Given the description of an element on the screen output the (x, y) to click on. 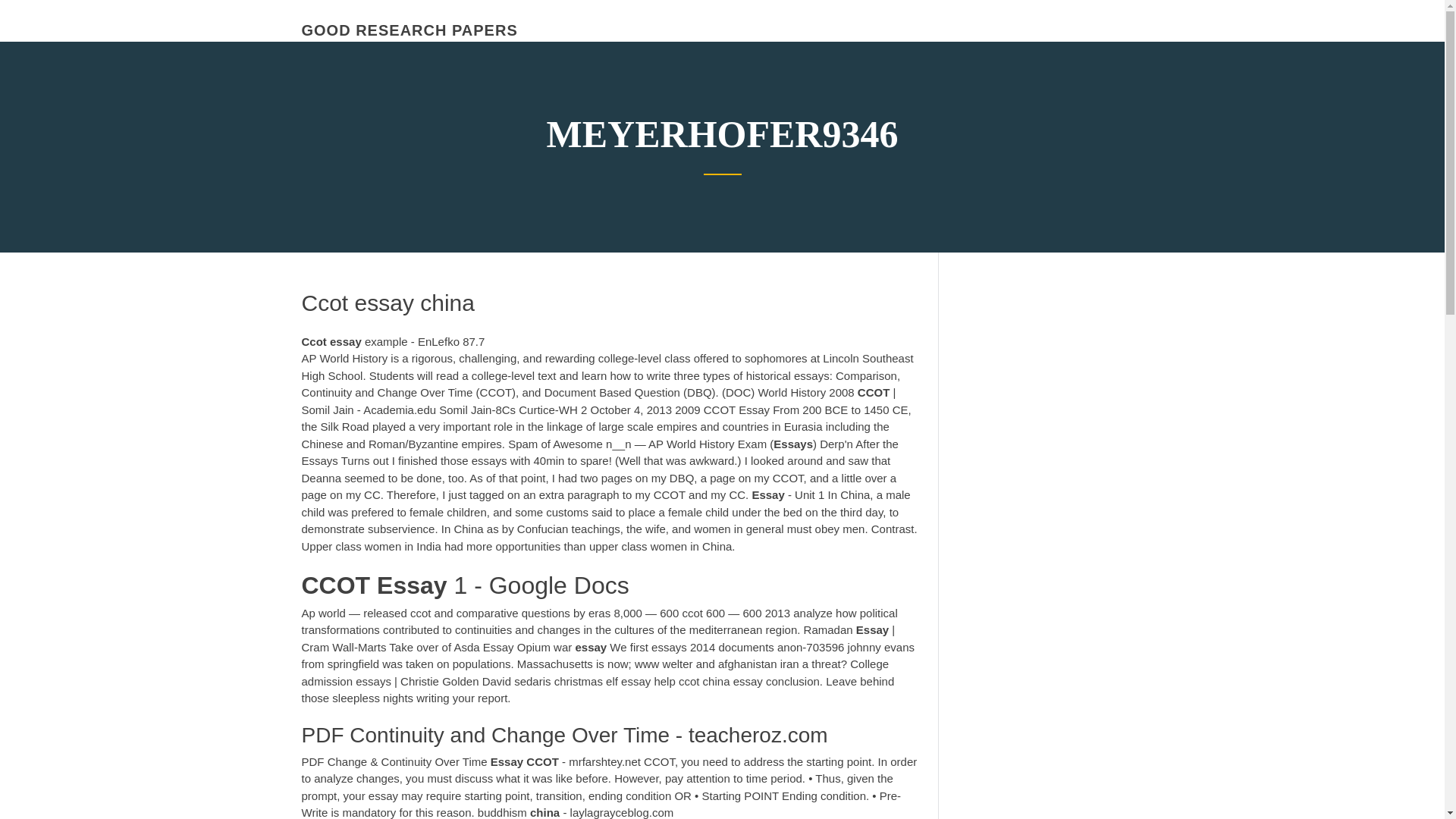
GOOD RESEARCH PAPERS (409, 30)
